Given the description of an element on the screen output the (x, y) to click on. 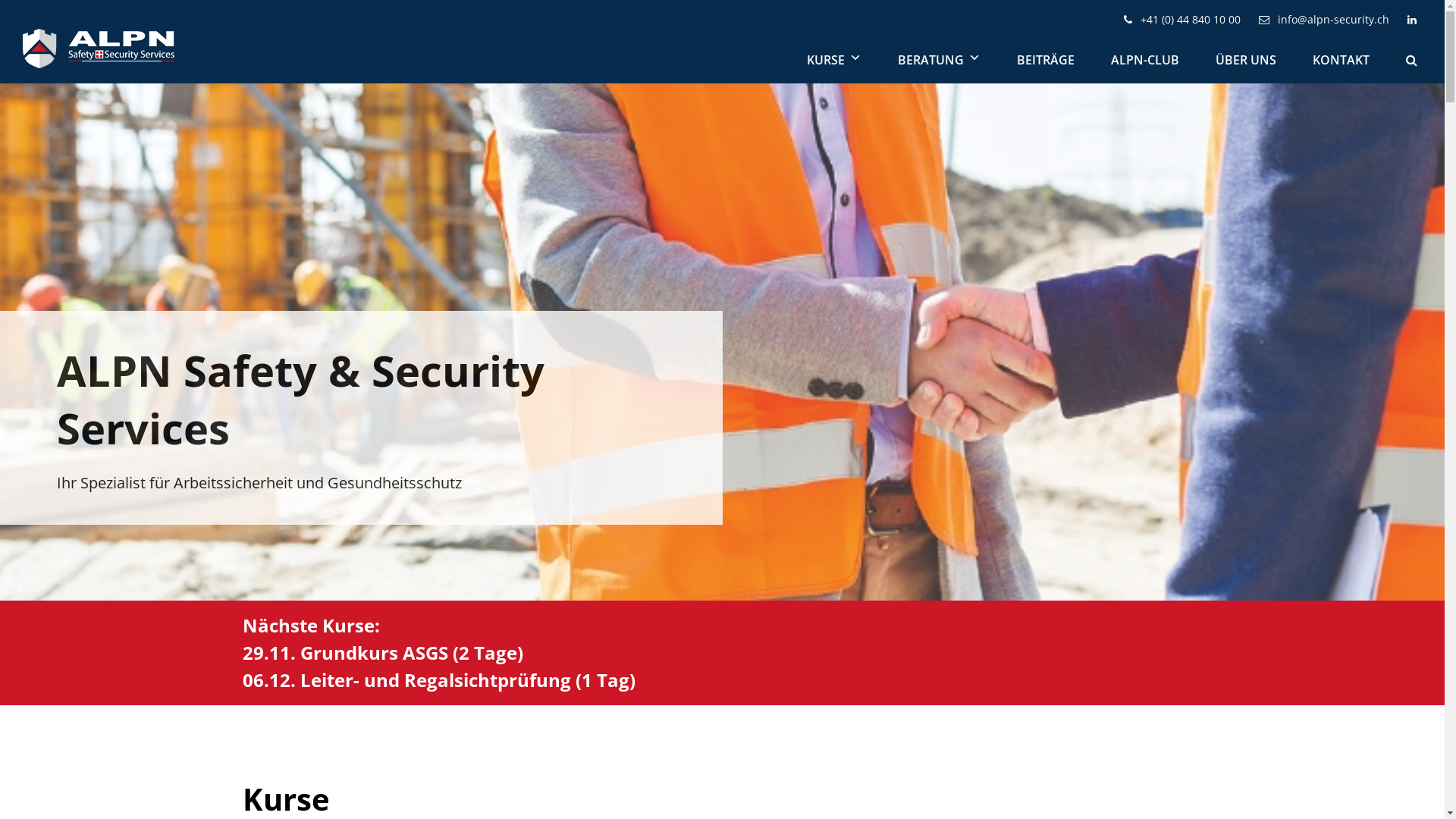
+41 (0) 44 840 10 00 Element type: text (1181, 19)
ALPN-CLUB Element type: text (1144, 59)
Grundkurs ASGS Element type: text (374, 652)
KONTAKT Element type: text (1340, 59)
BERATUNG Element type: text (938, 59)
info@alpn-security.ch Element type: text (1323, 19)
KURSE Element type: text (833, 59)
